Given the description of an element on the screen output the (x, y) to click on. 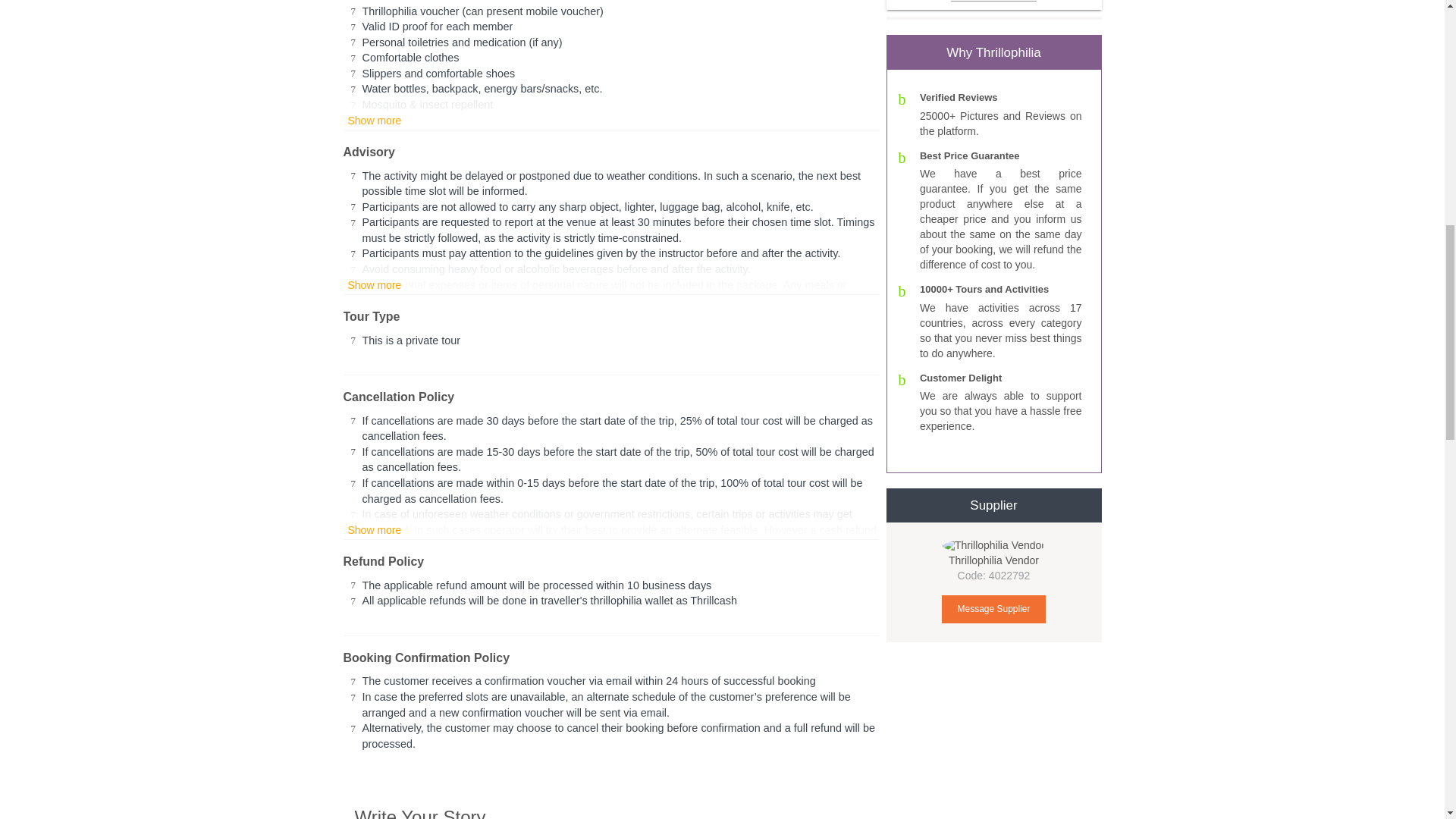
Share to Twitter (952, 2)
Show more (374, 121)
Show more (374, 285)
Share to Email (1034, 2)
Show more (374, 530)
Share to Facebook (980, 2)
